Given the description of an element on the screen output the (x, y) to click on. 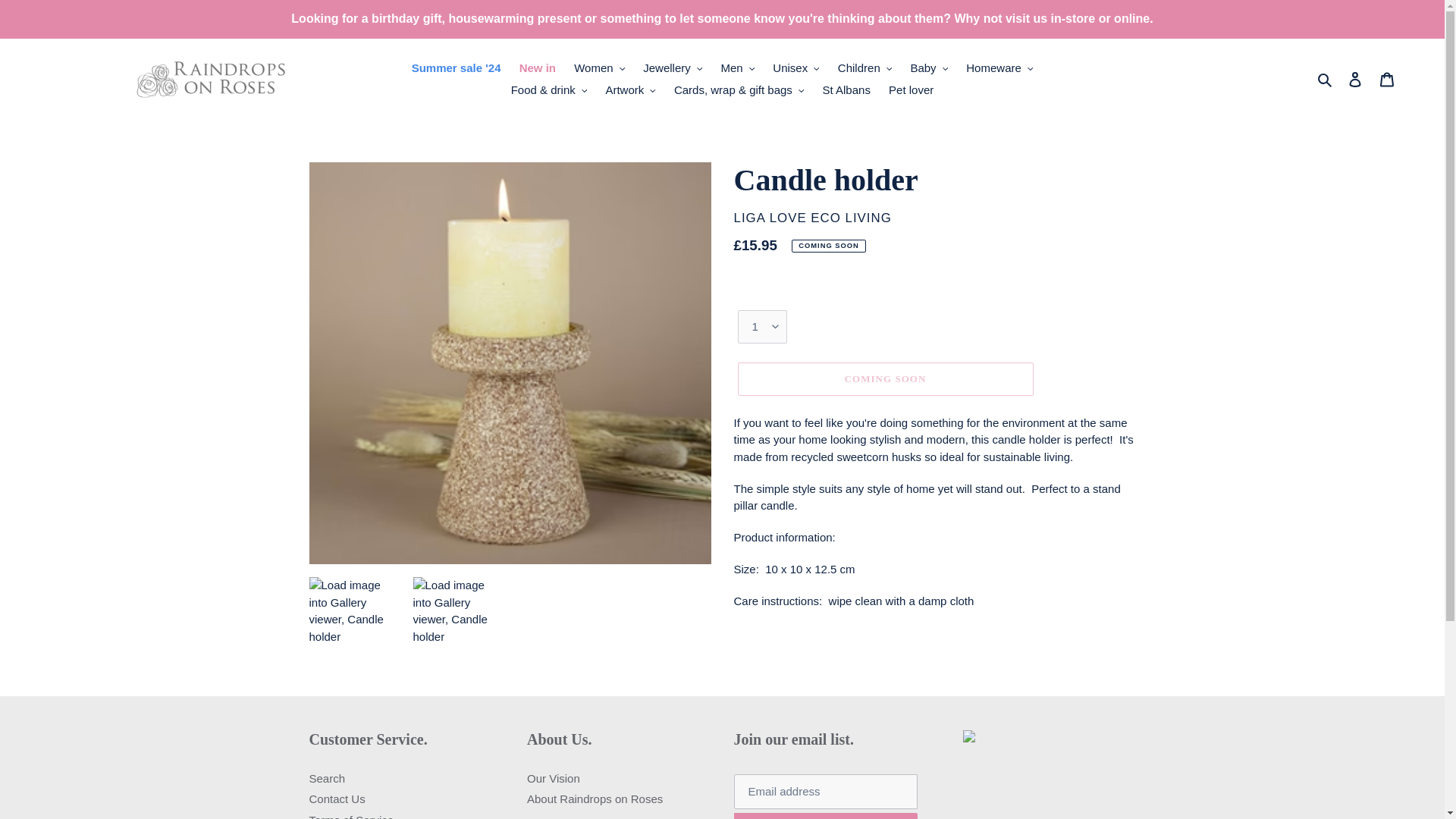
Women (598, 68)
New in (537, 68)
Jewellery (672, 68)
Summer sale '24 (456, 68)
Men (737, 68)
